Given the description of an element on the screen output the (x, y) to click on. 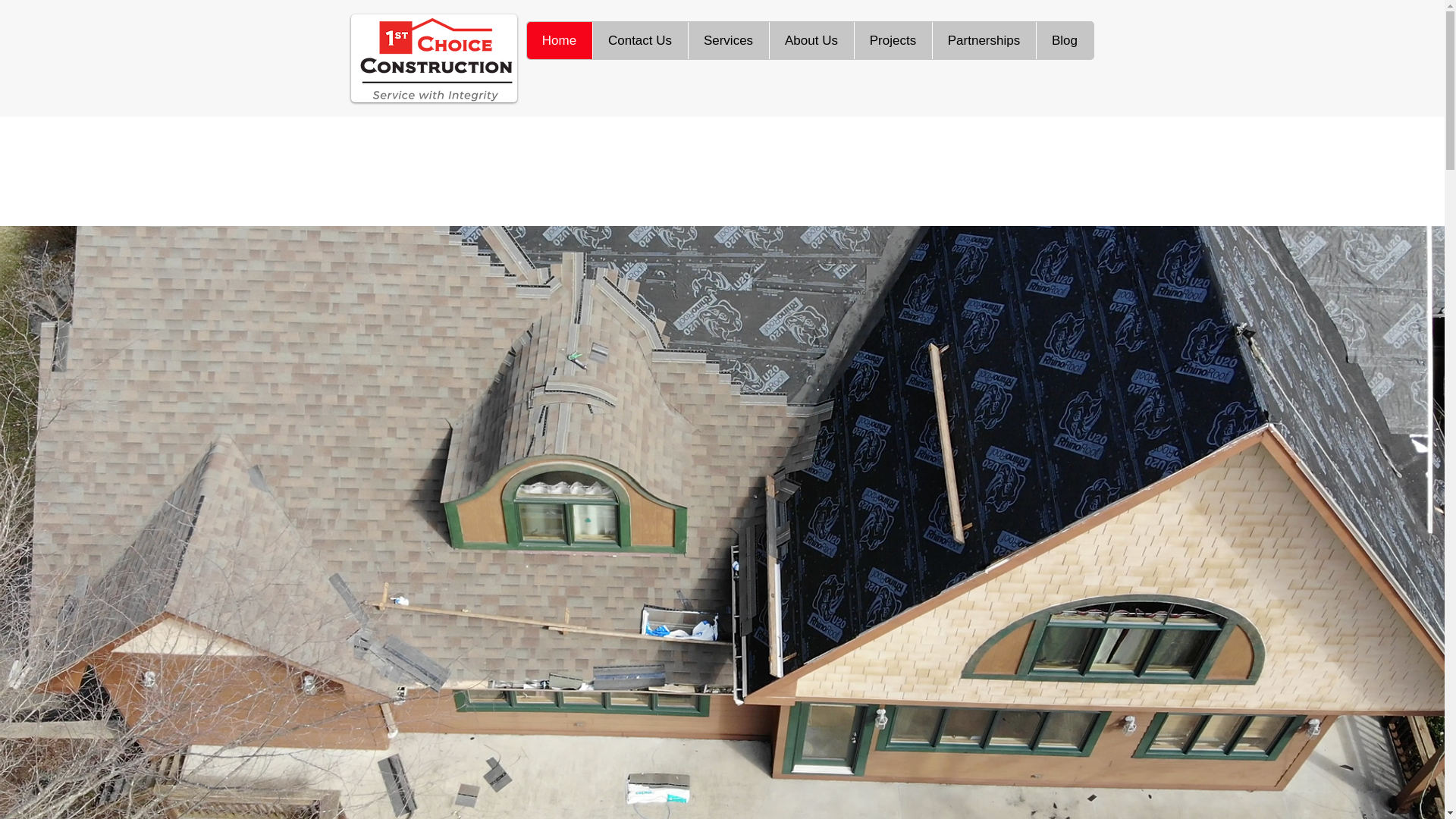
Services Element type: text (727, 40)
Partnerships Element type: text (983, 40)
Home Element type: text (558, 40)
About Us Element type: text (810, 40)
Contact Us Element type: text (639, 40)
Projects Element type: text (892, 40)
Blog Element type: text (1064, 40)
